Given the description of an element on the screen output the (x, y) to click on. 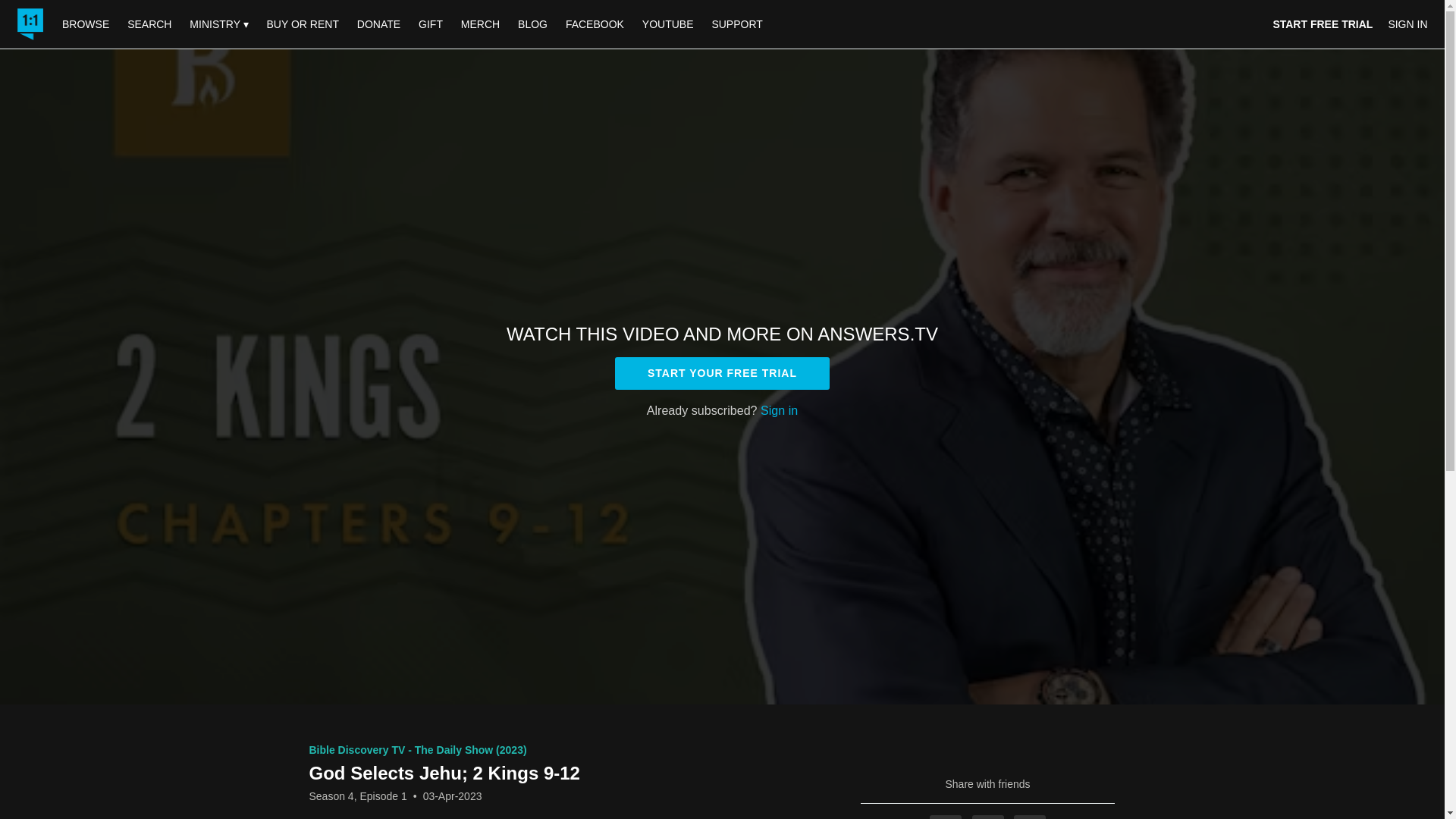
GIFT (429, 24)
SEARCH (150, 24)
START YOUR FREE TRIAL (721, 373)
BUY OR RENT (302, 24)
SUPPORT (736, 24)
START FREE TRIAL (1322, 24)
SIGN IN (1406, 24)
MERCH (479, 24)
BROWSE (87, 24)
Season 4, Episode 1 (357, 795)
Email (1029, 816)
Twitter (988, 816)
BLOG (532, 24)
Facebook (945, 816)
Sign in (778, 409)
